Given the description of an element on the screen output the (x, y) to click on. 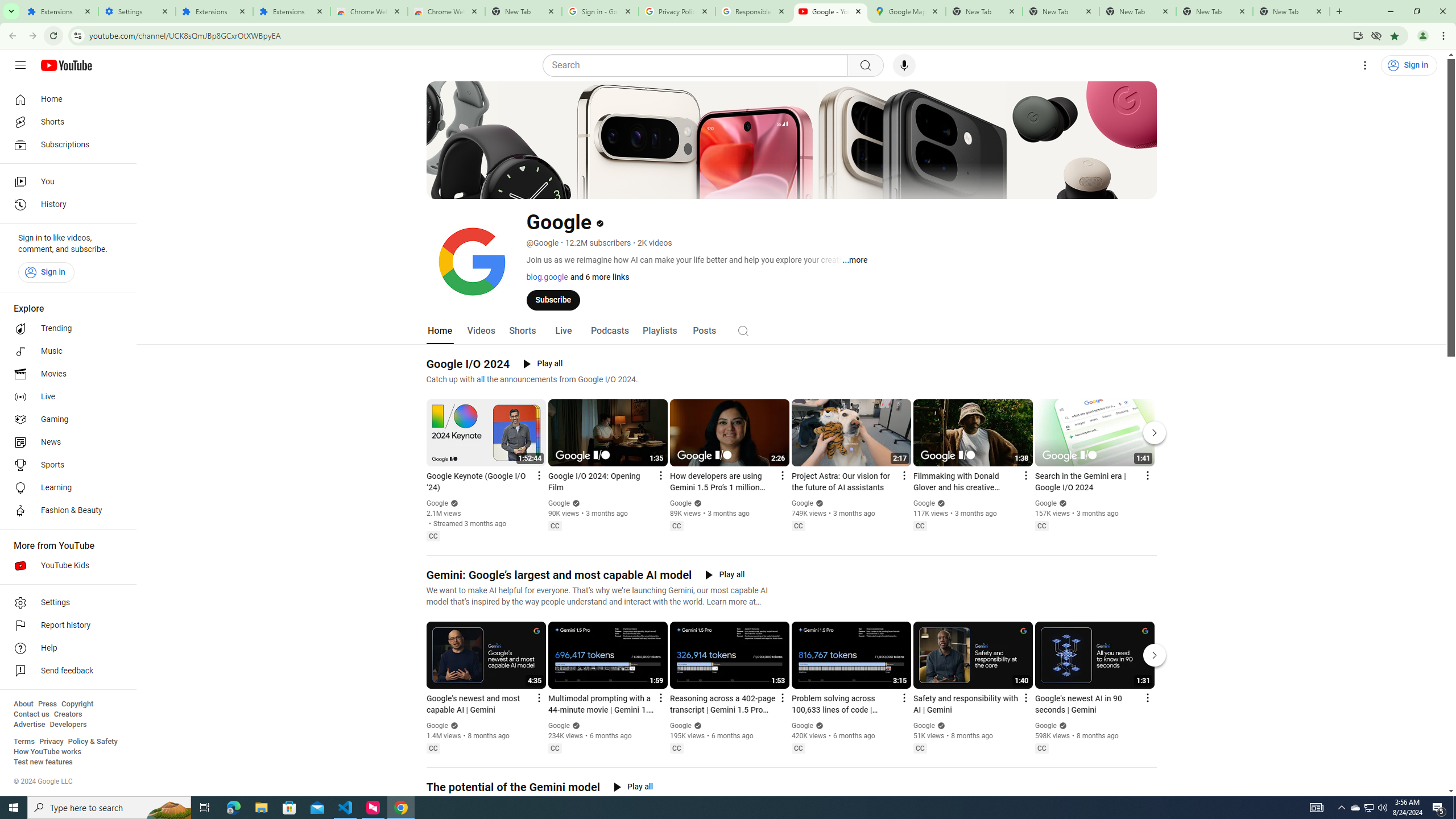
Gaming (64, 419)
Google - YouTube (830, 11)
Podcasts (608, 330)
History (64, 204)
Subscriptions (64, 144)
